Given the description of an element on the screen output the (x, y) to click on. 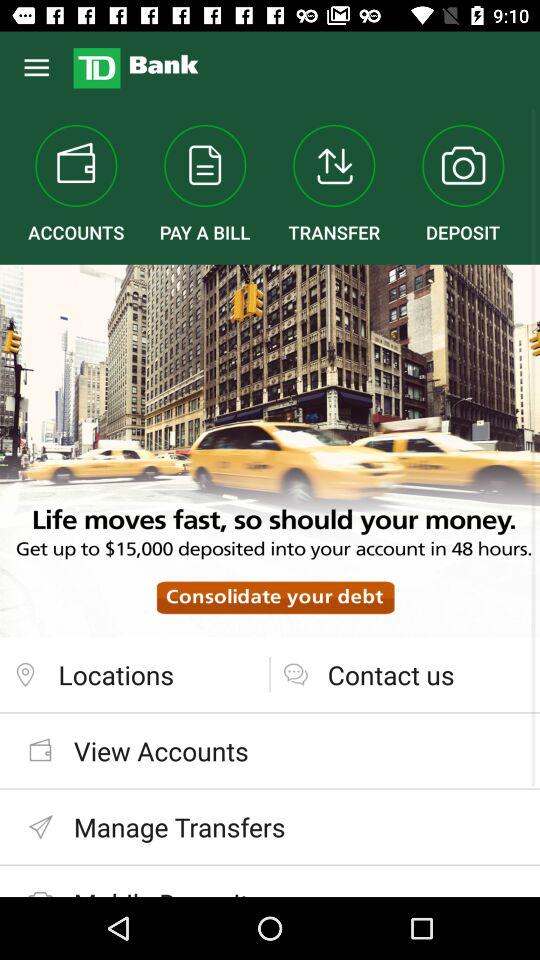
open contact us (405, 674)
